Given the description of an element on the screen output the (x, y) to click on. 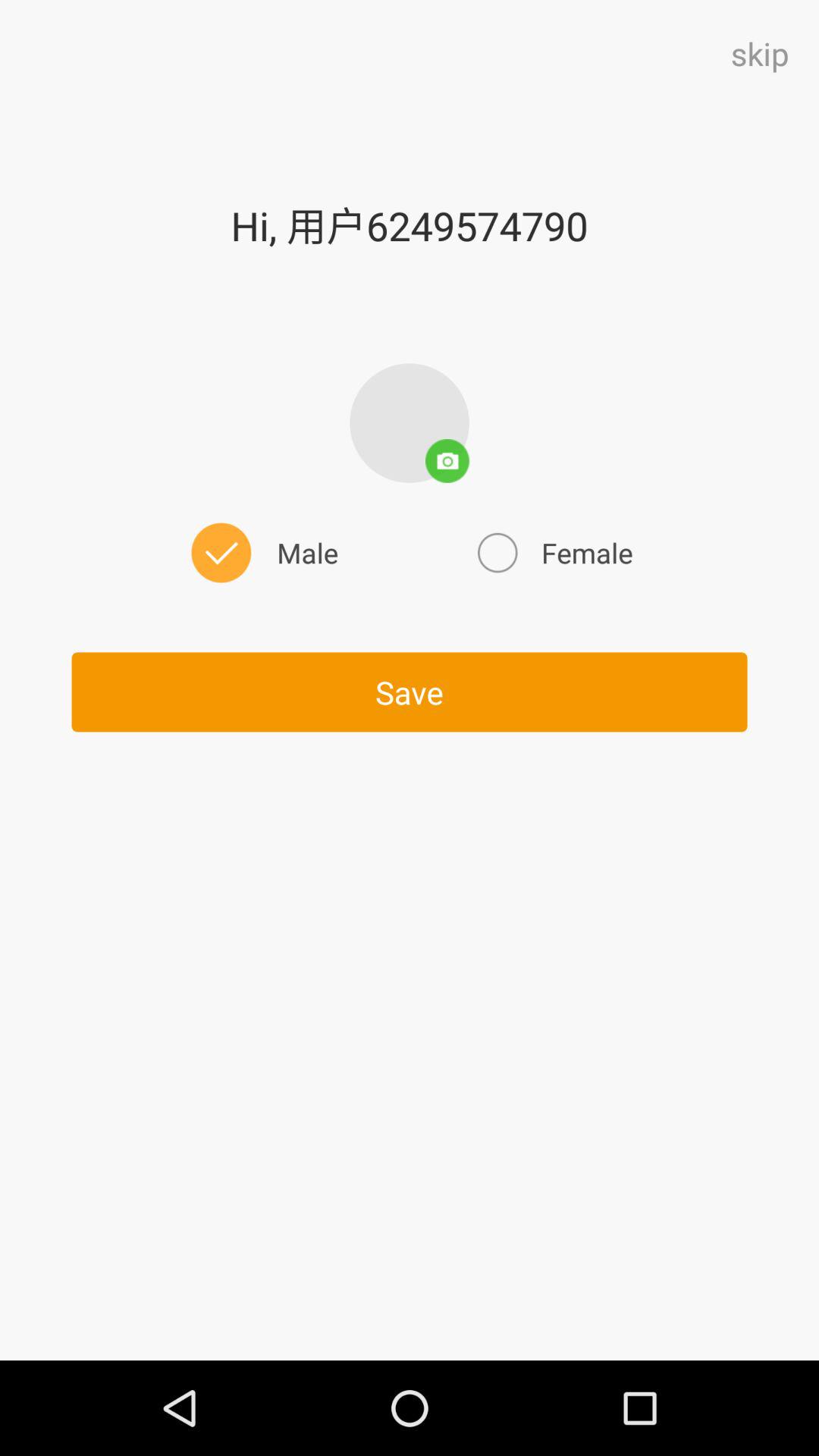
open icon above the save icon (553, 552)
